Given the description of an element on the screen output the (x, y) to click on. 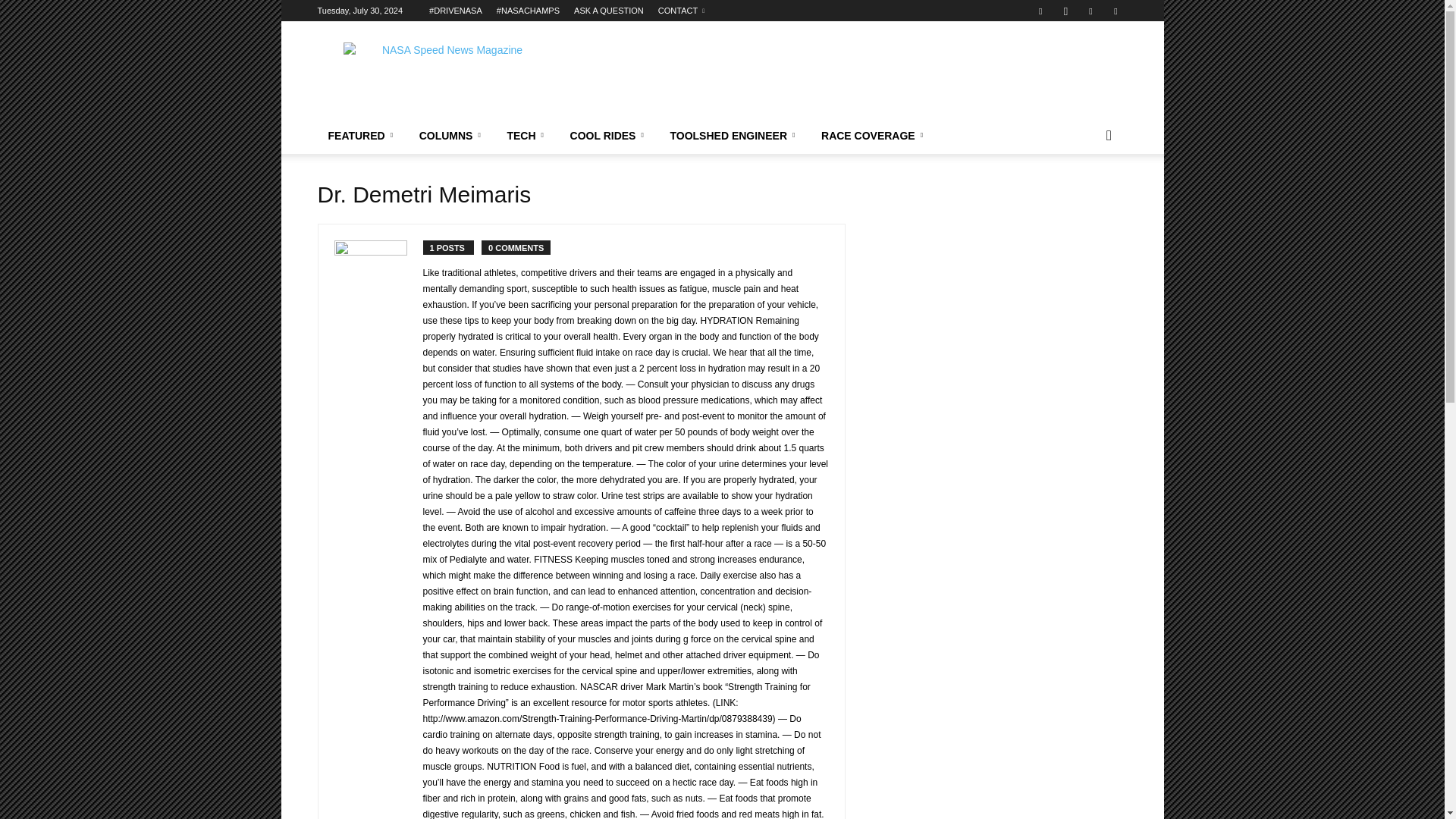
The Official Magazine of the National Auto Sport Association (445, 76)
CONTACT (681, 10)
Twitter (1090, 10)
ASK A QUESTION (608, 10)
Youtube (1114, 10)
Instagram (1065, 10)
Facebook (1040, 10)
